Given the description of an element on the screen output the (x, y) to click on. 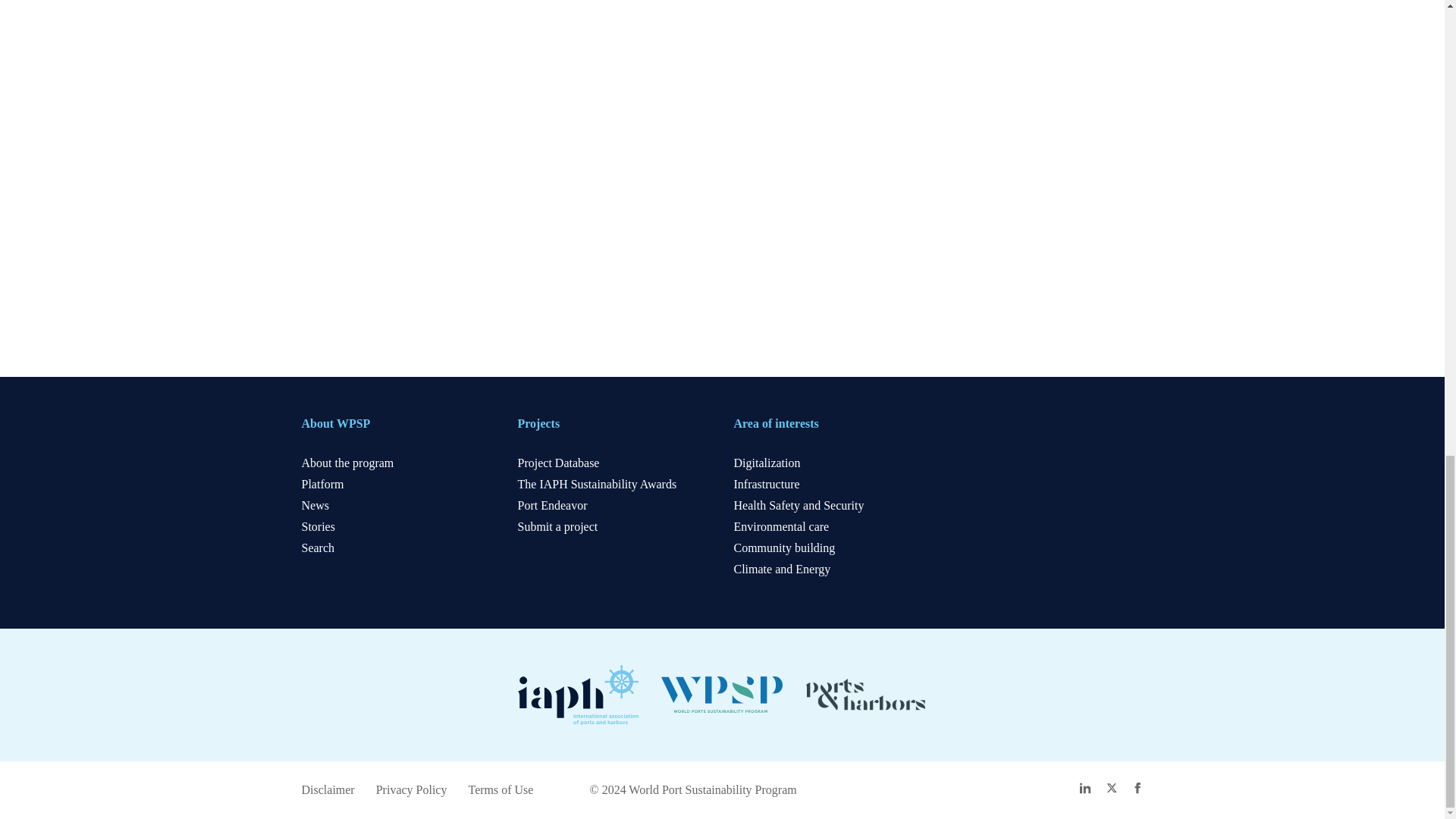
News (315, 504)
Platform (322, 483)
About the program (347, 462)
